Given the description of an element on the screen output the (x, y) to click on. 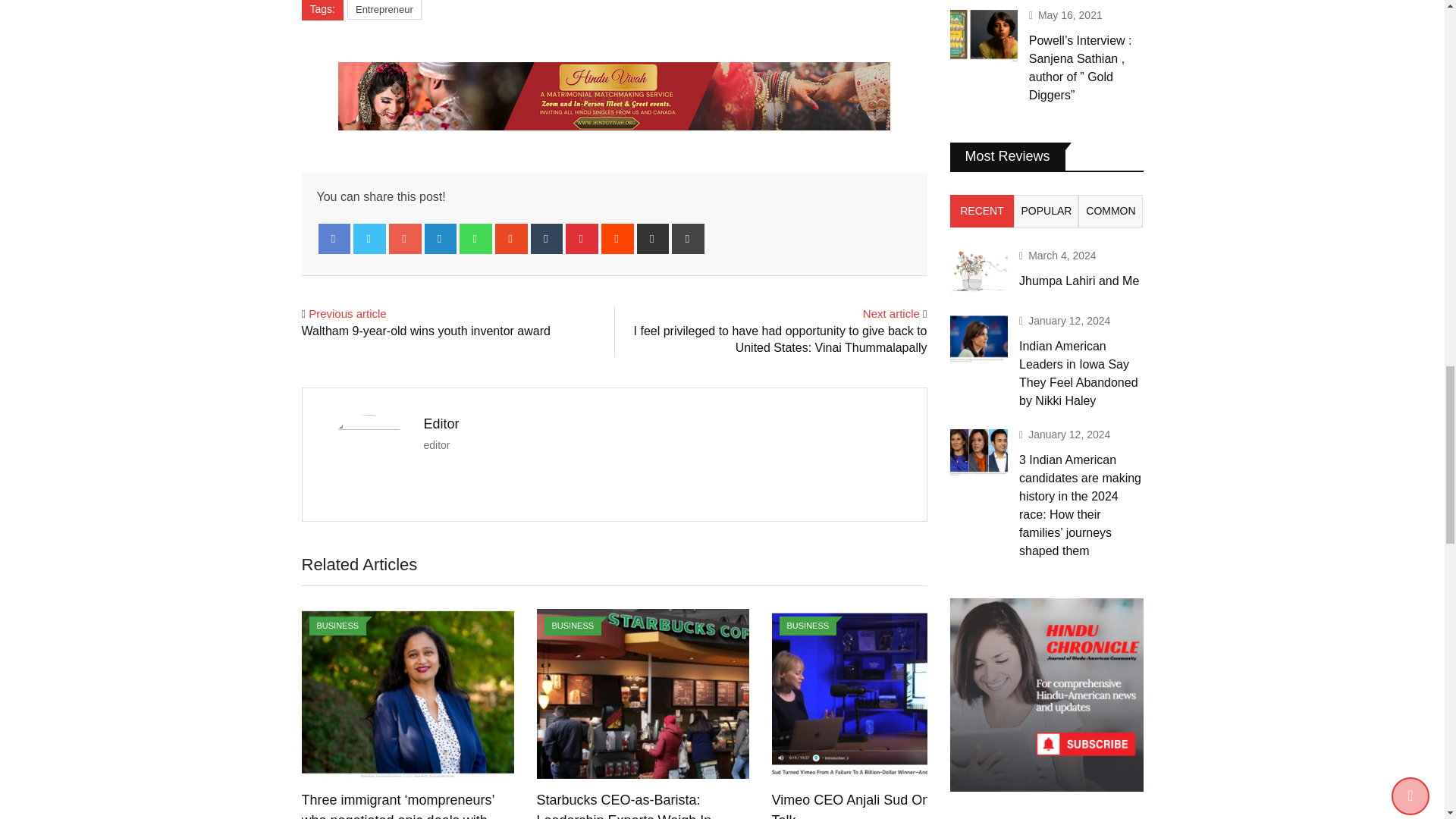
Posts by Editor (440, 423)
